Given the description of an element on the screen output the (x, y) to click on. 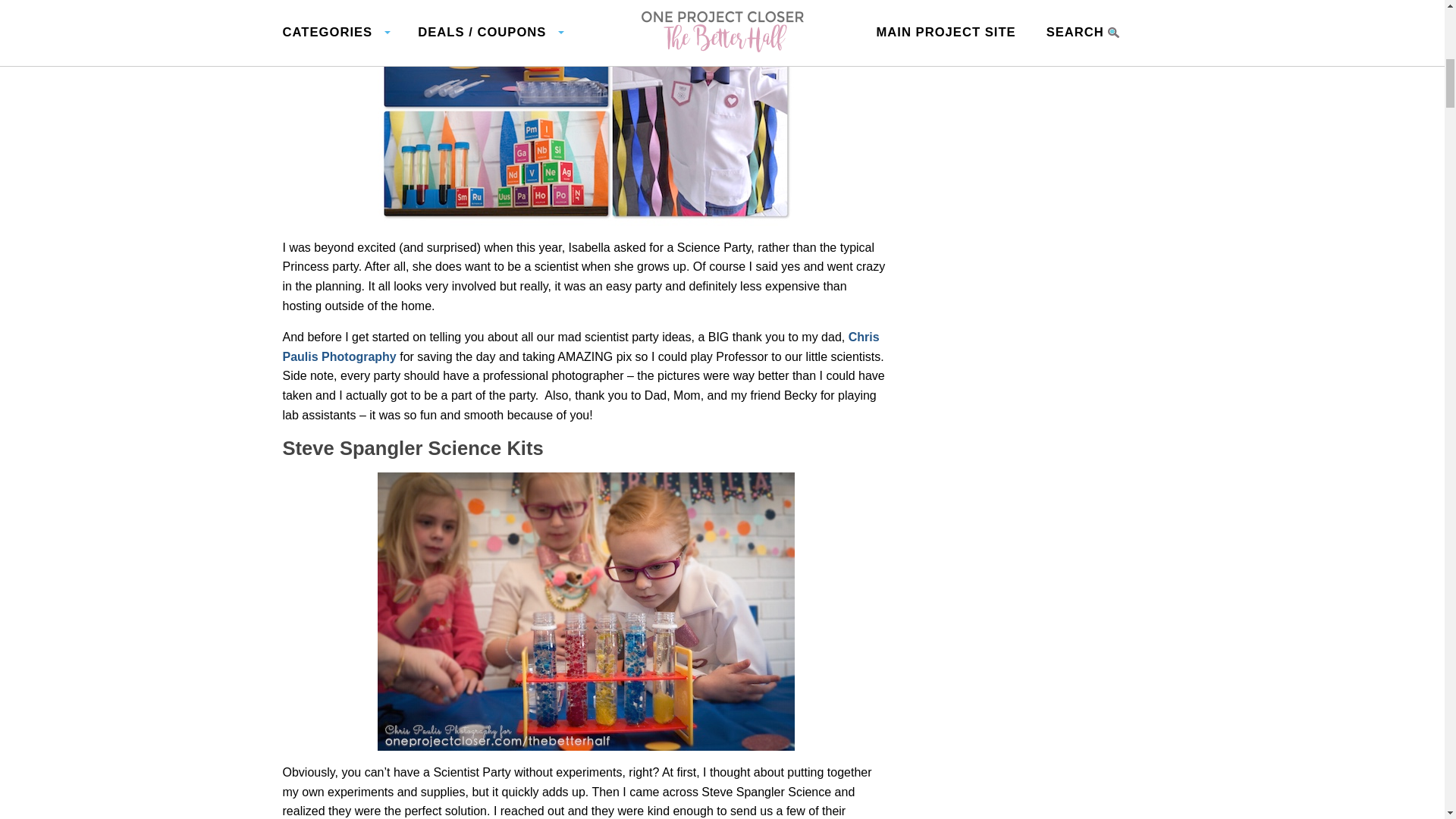
Visit our Home Improvement Coupons Page (1122, 4)
Chris Paulis Photography (580, 346)
